Given the description of an element on the screen output the (x, y) to click on. 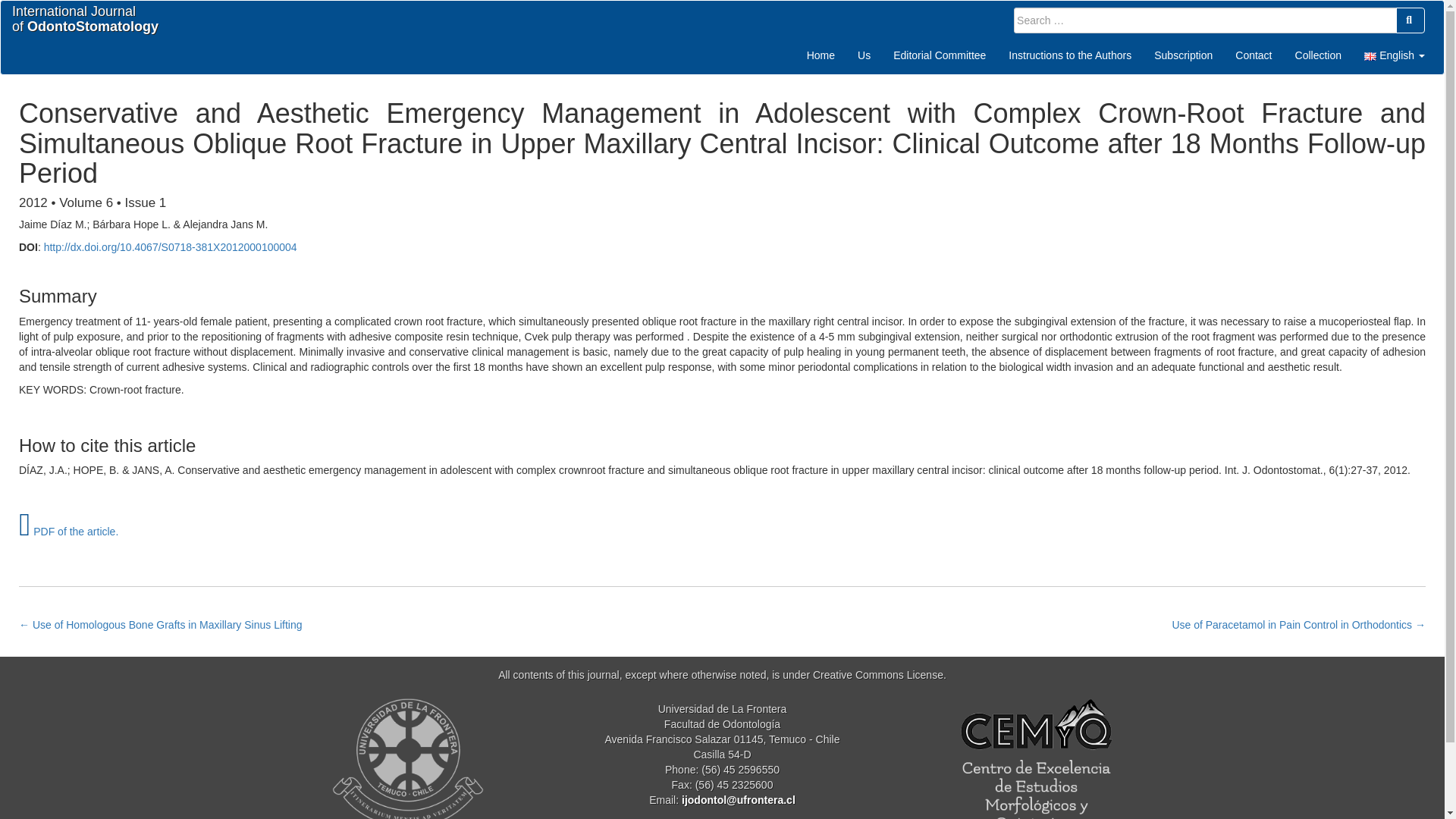
Subscription (1183, 55)
Instructions to the Authors (1069, 55)
Editorial Committee (939, 55)
English (1393, 55)
English (1393, 55)
Us (863, 55)
Collection (1318, 55)
Contact (1253, 55)
Collection (85, 19)
Home (1318, 55)
PDF of the article. (819, 55)
Us (67, 531)
Editorial Committee (863, 55)
